Given the description of an element on the screen output the (x, y) to click on. 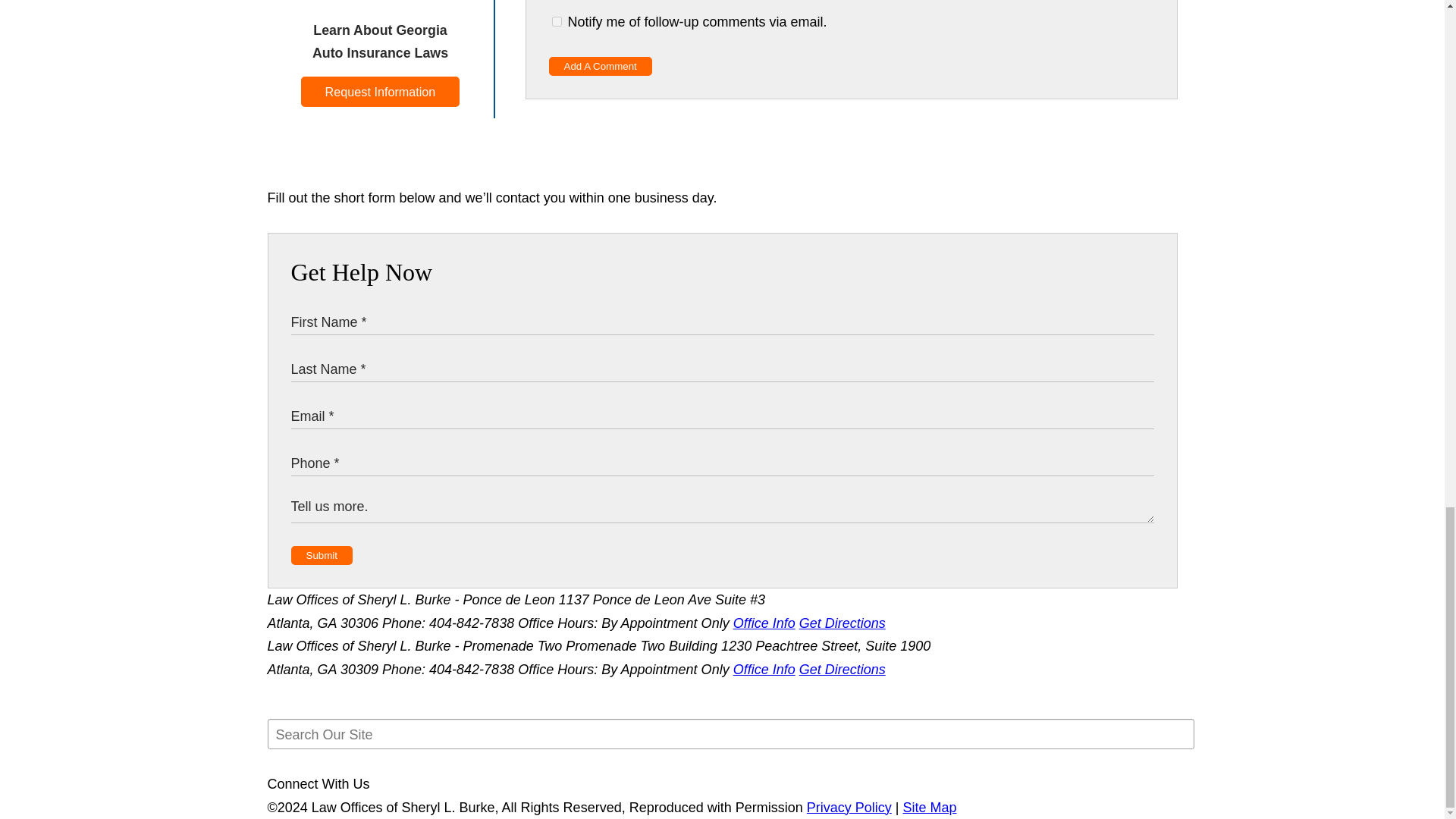
1 (556, 21)
